Given the description of an element on the screen output the (x, y) to click on. 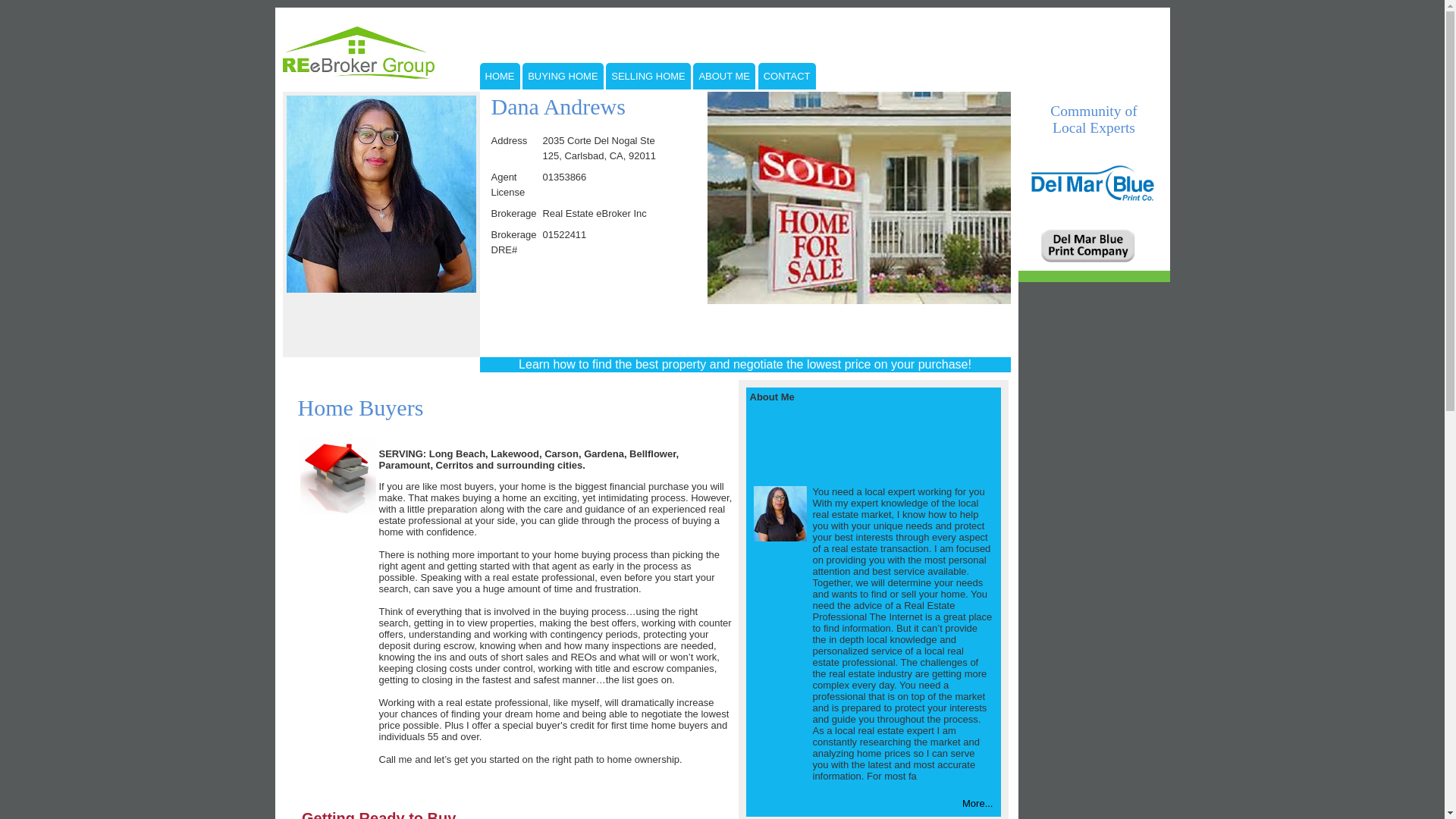
BUYING HOME (562, 77)
SELLING HOME (647, 77)
ABOUT ME (724, 77)
CONTACT (786, 77)
HOME (499, 77)
